Given the description of an element on the screen output the (x, y) to click on. 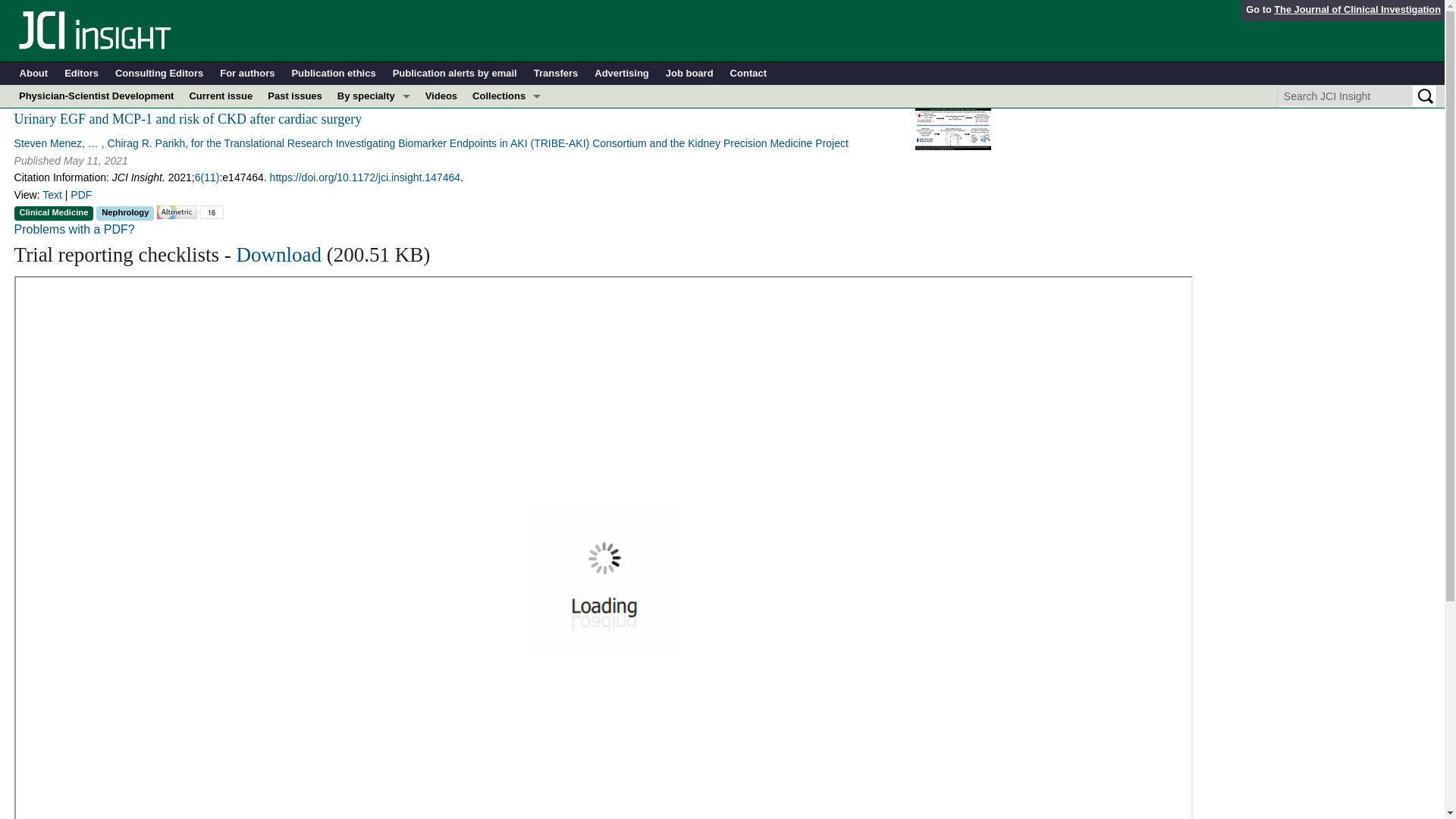
Consulting Editors (159, 73)
Pulmonology (373, 255)
Resource and Technical Advances (506, 141)
Nephrology (373, 210)
Videos (440, 96)
Editors (81, 73)
Publication alerts by email (454, 73)
Publication ethics (333, 73)
All ... (373, 277)
Physician-Scientist Development (506, 232)
COVID-19 (373, 118)
Perspectives (506, 210)
Current issue (220, 96)
Reviews (506, 255)
Physician-Scientist Development (95, 96)
